Given the description of an element on the screen output the (x, y) to click on. 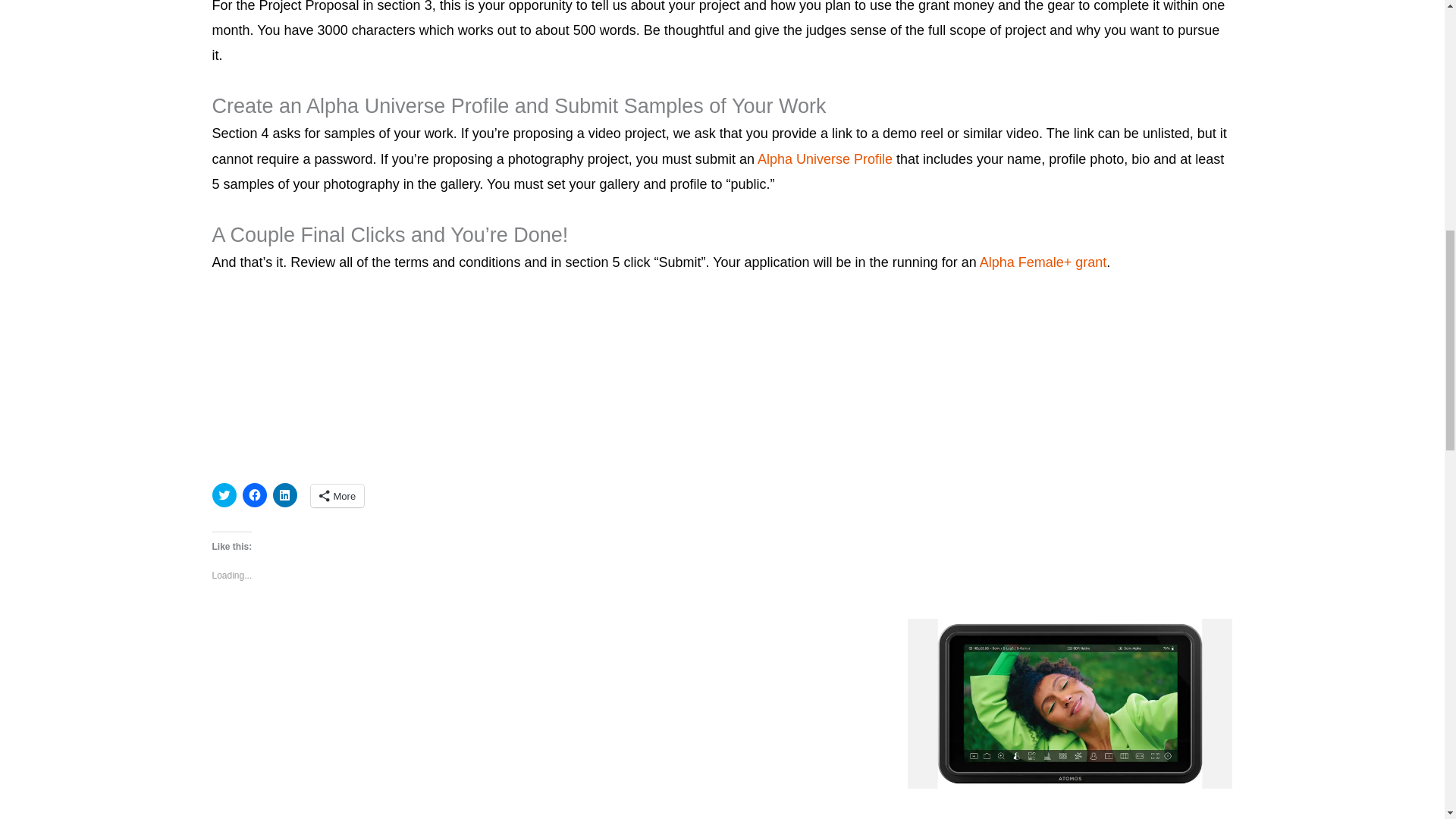
Click to share on LinkedIn (285, 494)
Click to share on Twitter (223, 494)
Click to share on Facebook (254, 494)
